Given the description of an element on the screen output the (x, y) to click on. 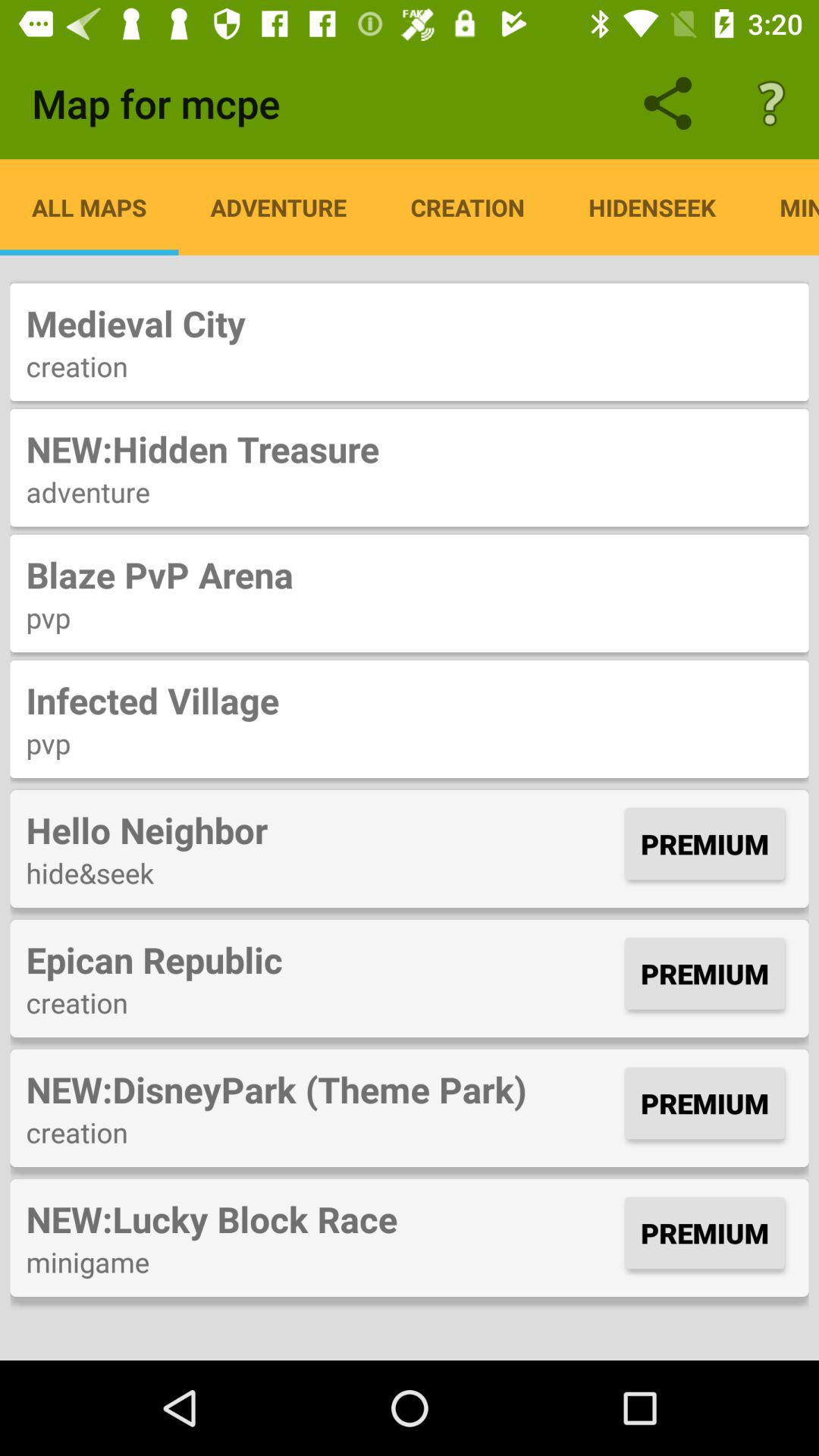
launch icon above the pvp icon (409, 700)
